Given the description of an element on the screen output the (x, y) to click on. 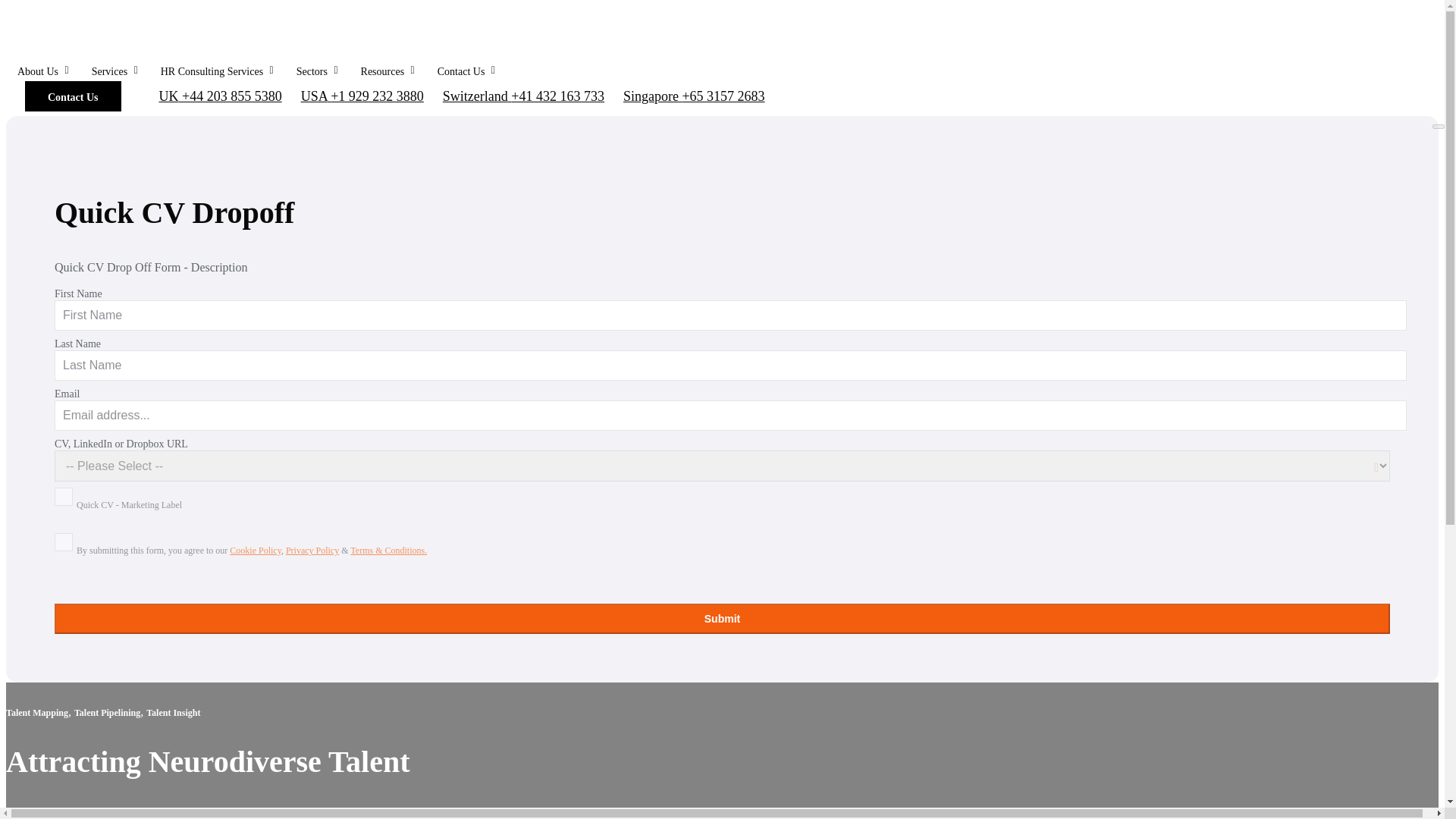
Services (114, 71)
About Us (42, 71)
HR Consulting Services (217, 71)
Submit (722, 618)
